Given the description of an element on the screen output the (x, y) to click on. 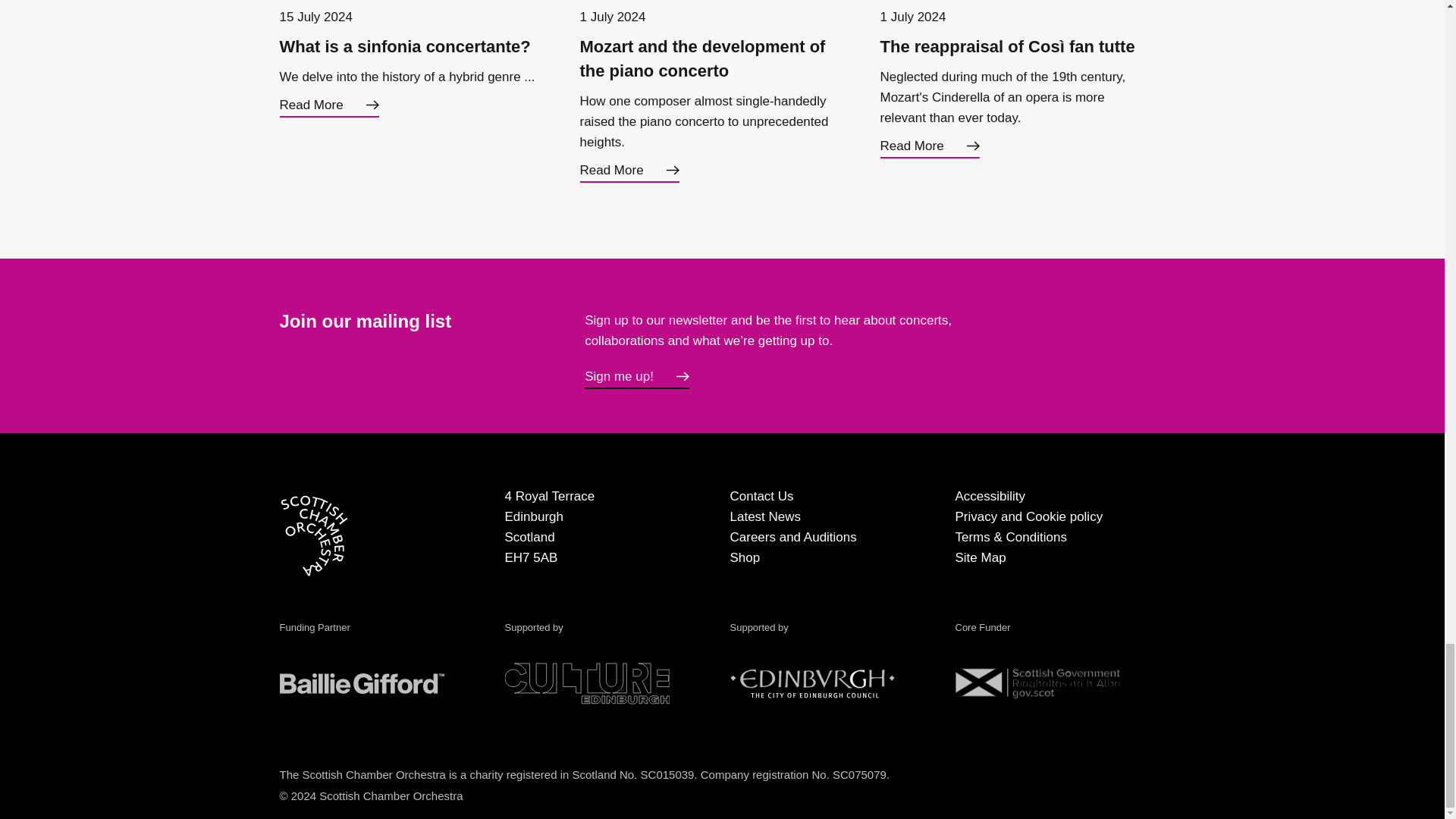
Sign me up! (636, 377)
Site Map (980, 557)
Accessibility (990, 495)
Contact Us (761, 495)
Latest News (764, 516)
Shop (744, 557)
Careers and Auditions (792, 536)
Privacy and Cookie policy (1029, 516)
